Given the description of an element on the screen output the (x, y) to click on. 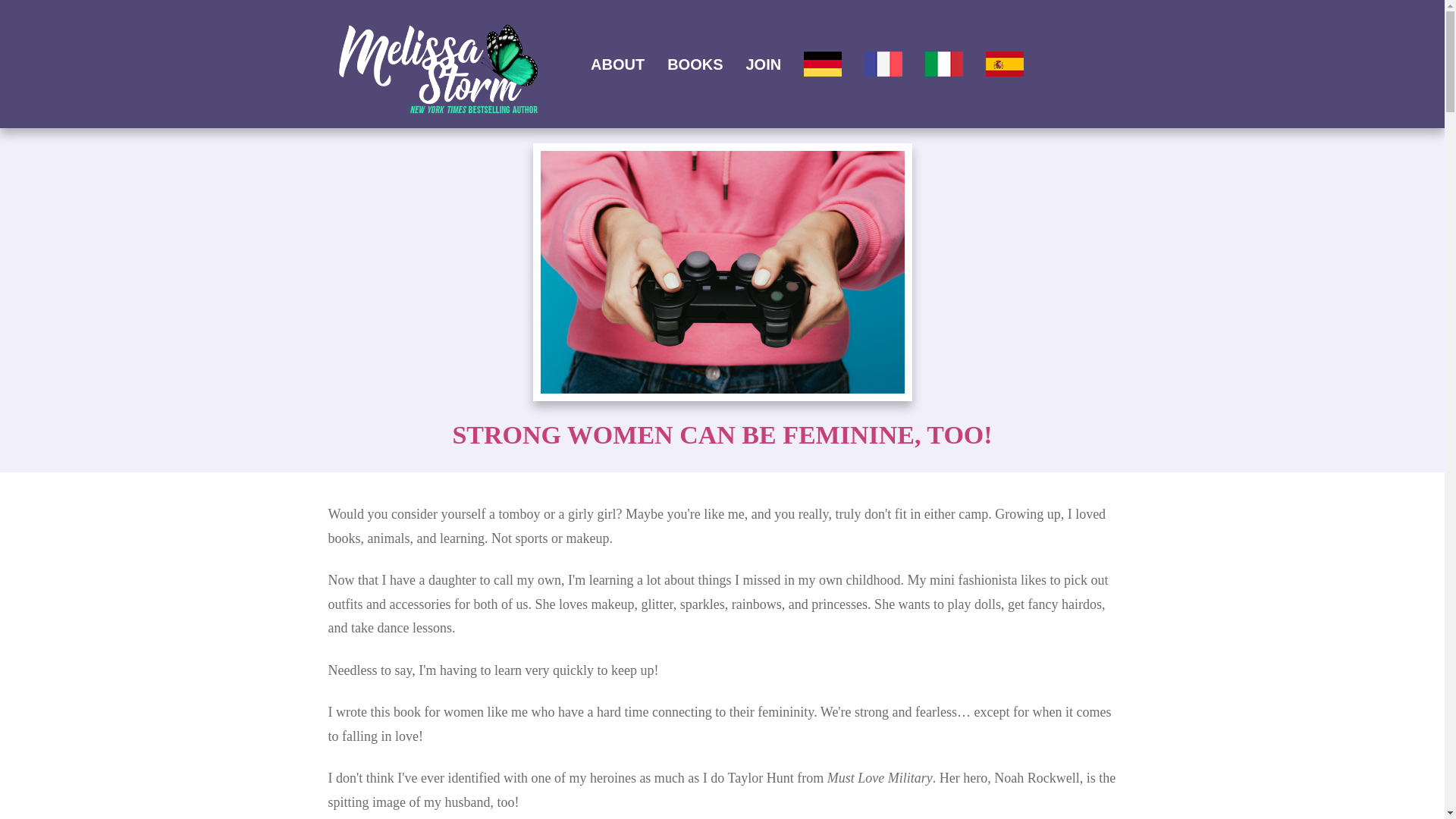
STRONG WOMEN CAN BE FEMININE, TOO! (721, 434)
Strong women can be feminine, too! (721, 272)
JOIN (763, 64)
Strong women can be feminine, too! (721, 434)
ABOUT (618, 64)
BOOKS (694, 64)
